Given the description of an element on the screen output the (x, y) to click on. 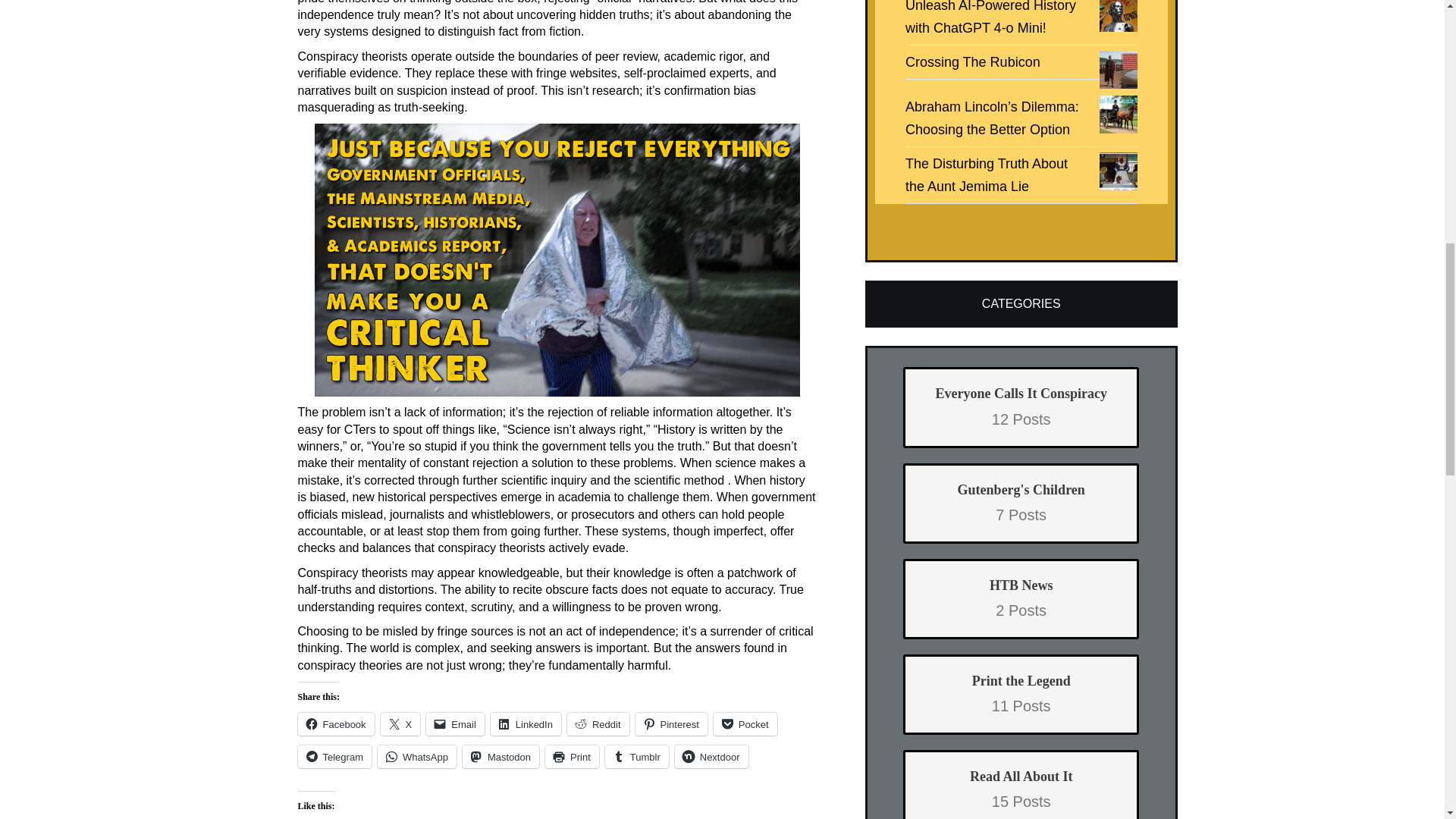
Click to share on Nextdoor (711, 756)
Click to share on X (400, 723)
Click to share on Pocket (745, 723)
Click to share on Pinterest (670, 723)
Click to email a link to a friend (455, 723)
Click to share on Mastodon (500, 756)
Mastodon (500, 756)
Click to print (571, 756)
Click to share on Facebook (335, 723)
LinkedIn (525, 723)
